Given the description of an element on the screen output the (x, y) to click on. 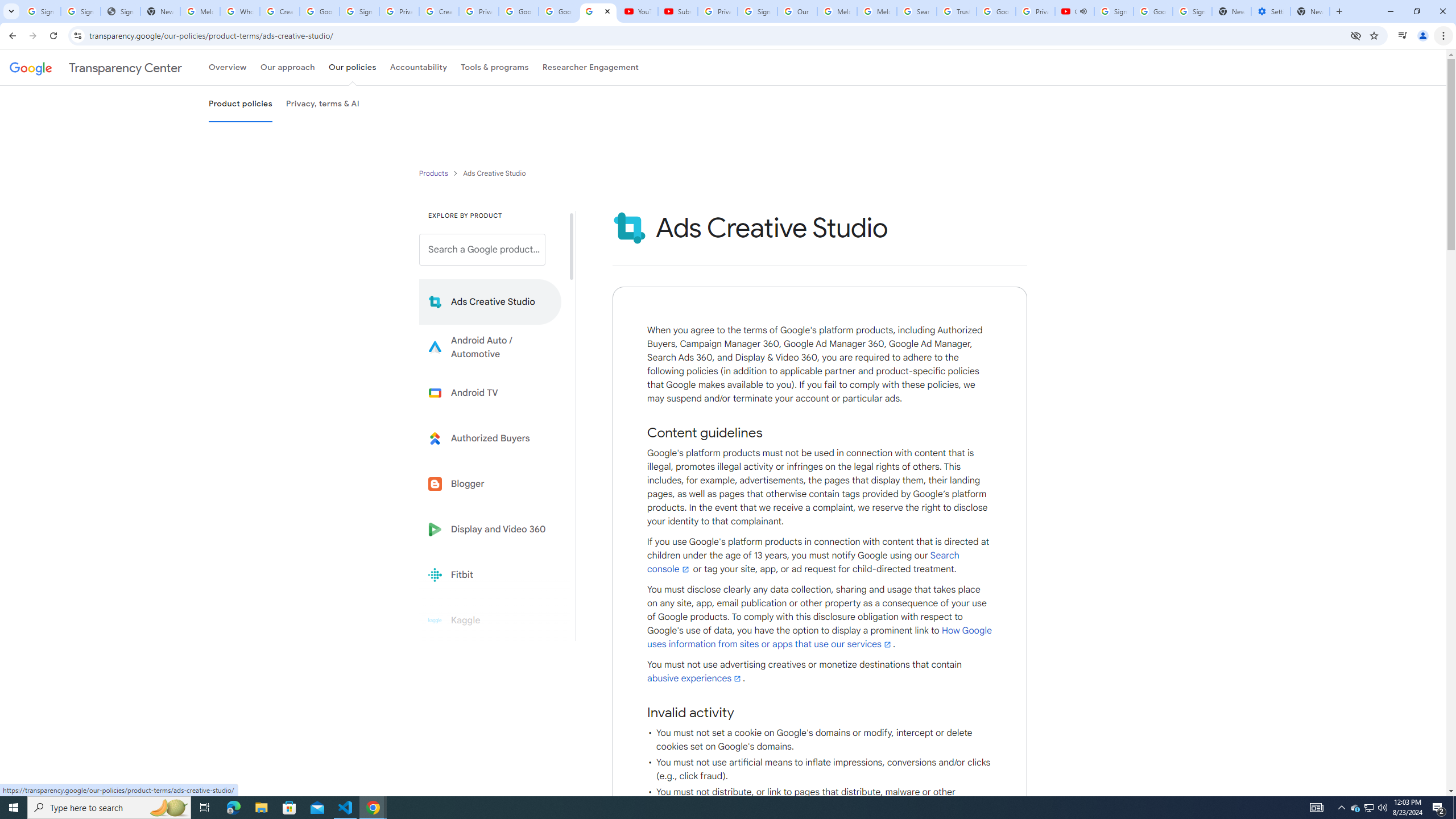
Our approach (287, 67)
Google Ads - Sign in (995, 11)
Accountability (418, 67)
Sign in - Google Accounts (757, 11)
Learn more about Ads Creative Studio (490, 302)
Learn more about Android Auto (490, 347)
abusive experiences (695, 678)
Sign in - Google Accounts (1113, 11)
